Given the description of an element on the screen output the (x, y) to click on. 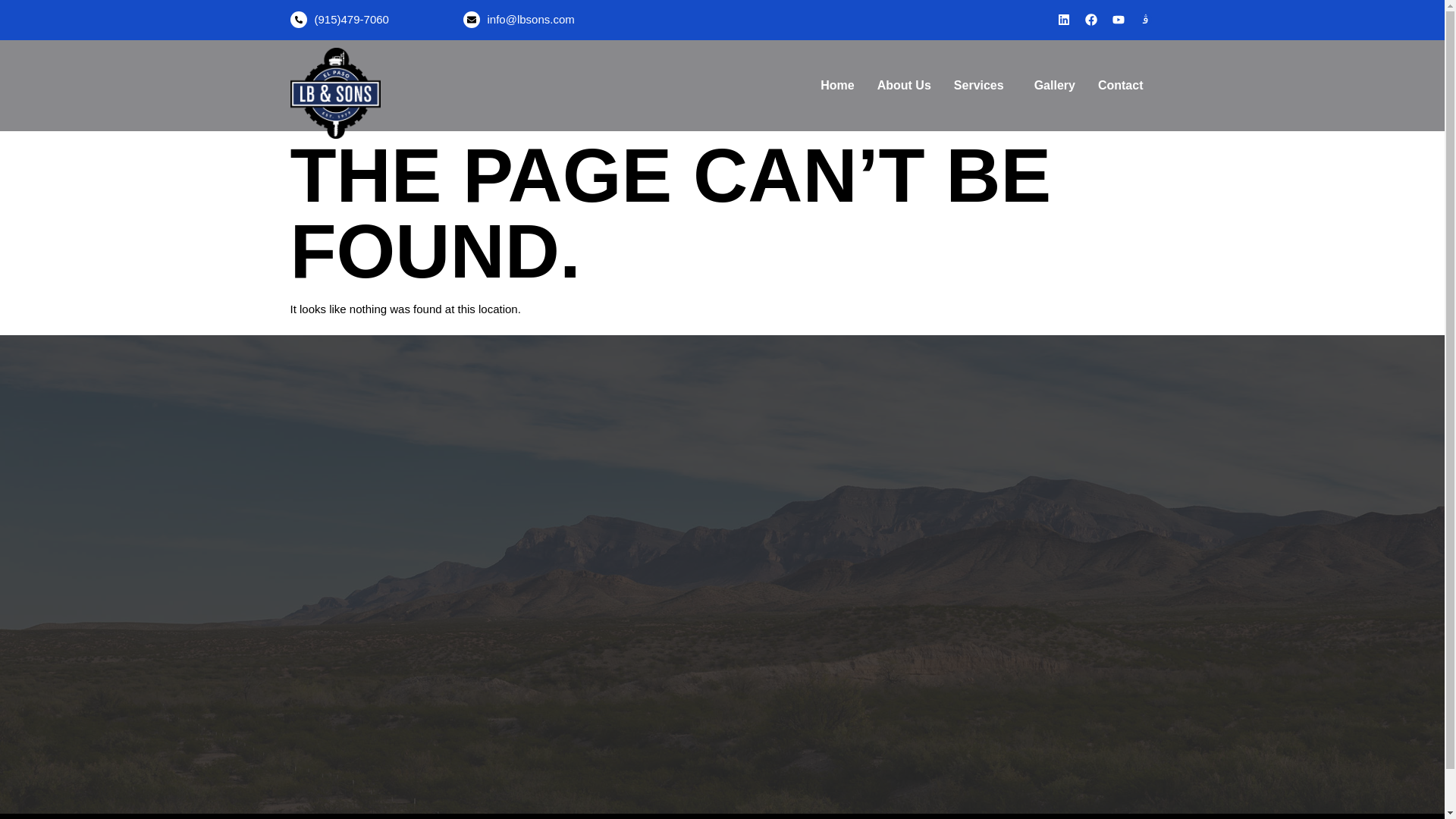
About Us (904, 85)
Gallery (1054, 85)
Home (836, 85)
Services (982, 85)
Contact (1120, 85)
